Given the description of an element on the screen output the (x, y) to click on. 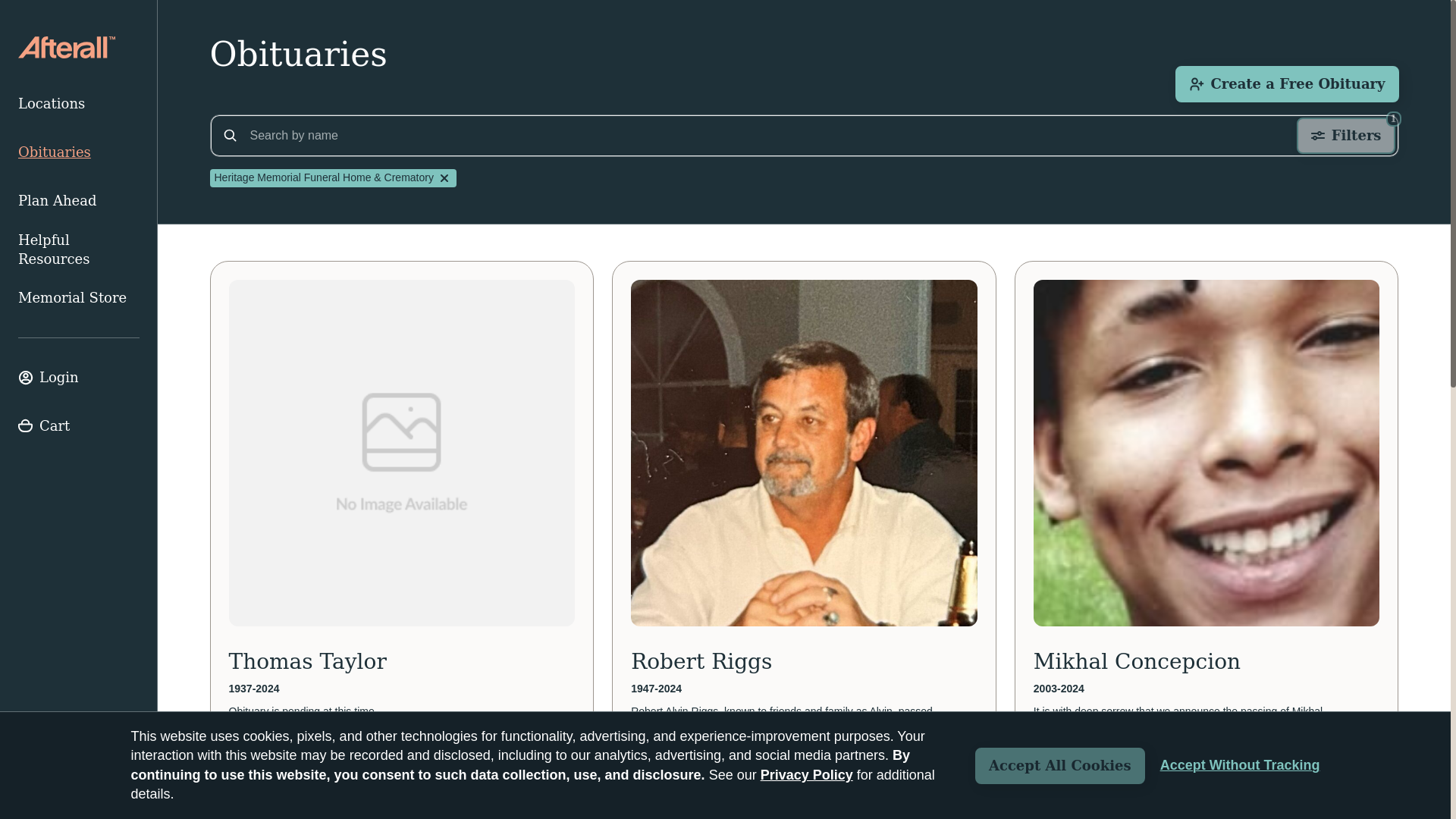
Privacy Policy (806, 774)
Obituaries (78, 151)
Login (78, 377)
Sign In (78, 377)
Cart (78, 426)
Accept All Cookies (1059, 765)
Helpful Resources (78, 249)
Create a Free Obituary (1285, 84)
Plan Ahead (78, 200)
